Given the description of an element on the screen output the (x, y) to click on. 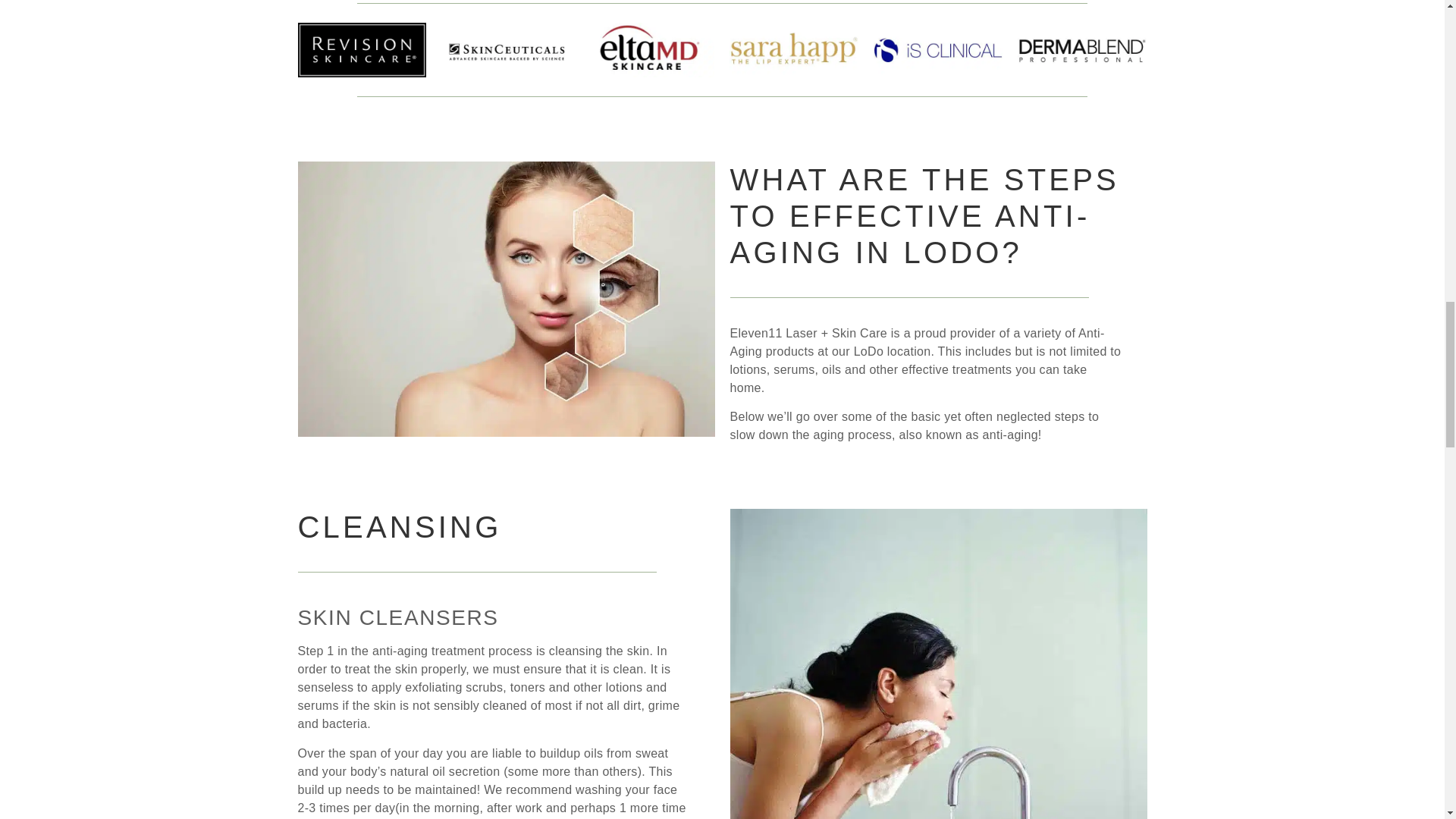
Anti-Aging Treatments In LoDo 3 (361, 48)
Anti-Aging Treatments In LoDo 9 (505, 297)
Anti-Aging Treatments In LoDo 8 (1082, 49)
Anti-Aging Treatments In LoDo 10 (938, 716)
Anti-Aging Treatments In LoDo 6 (794, 48)
Anti-Aging Treatments In LoDo 5 (649, 48)
Anti-Aging Treatments In LoDo 4 (505, 49)
Anti-Aging Treatments In LoDo 7 (938, 48)
